Given the description of an element on the screen output the (x, y) to click on. 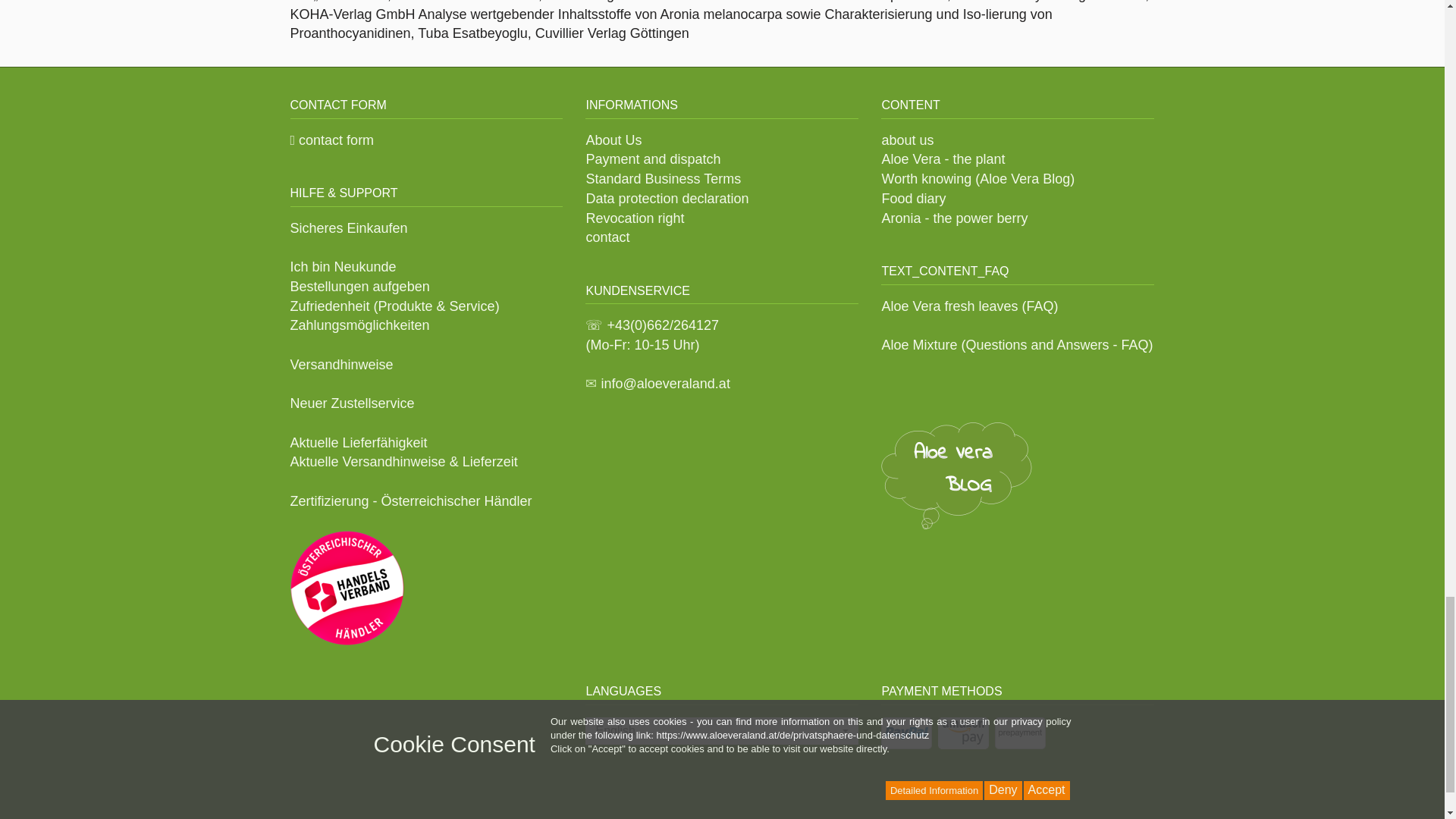
Ich bin Neukunde (342, 266)
Alles rund um die Aloe Vera Pflanze (956, 475)
Versandhinweise (341, 364)
Bestellungen aufgeben (359, 286)
Sicheres Einkaufen (348, 227)
Languages: English (722, 731)
contact form (331, 140)
Neuer Zustellservice (351, 403)
